Given the description of an element on the screen output the (x, y) to click on. 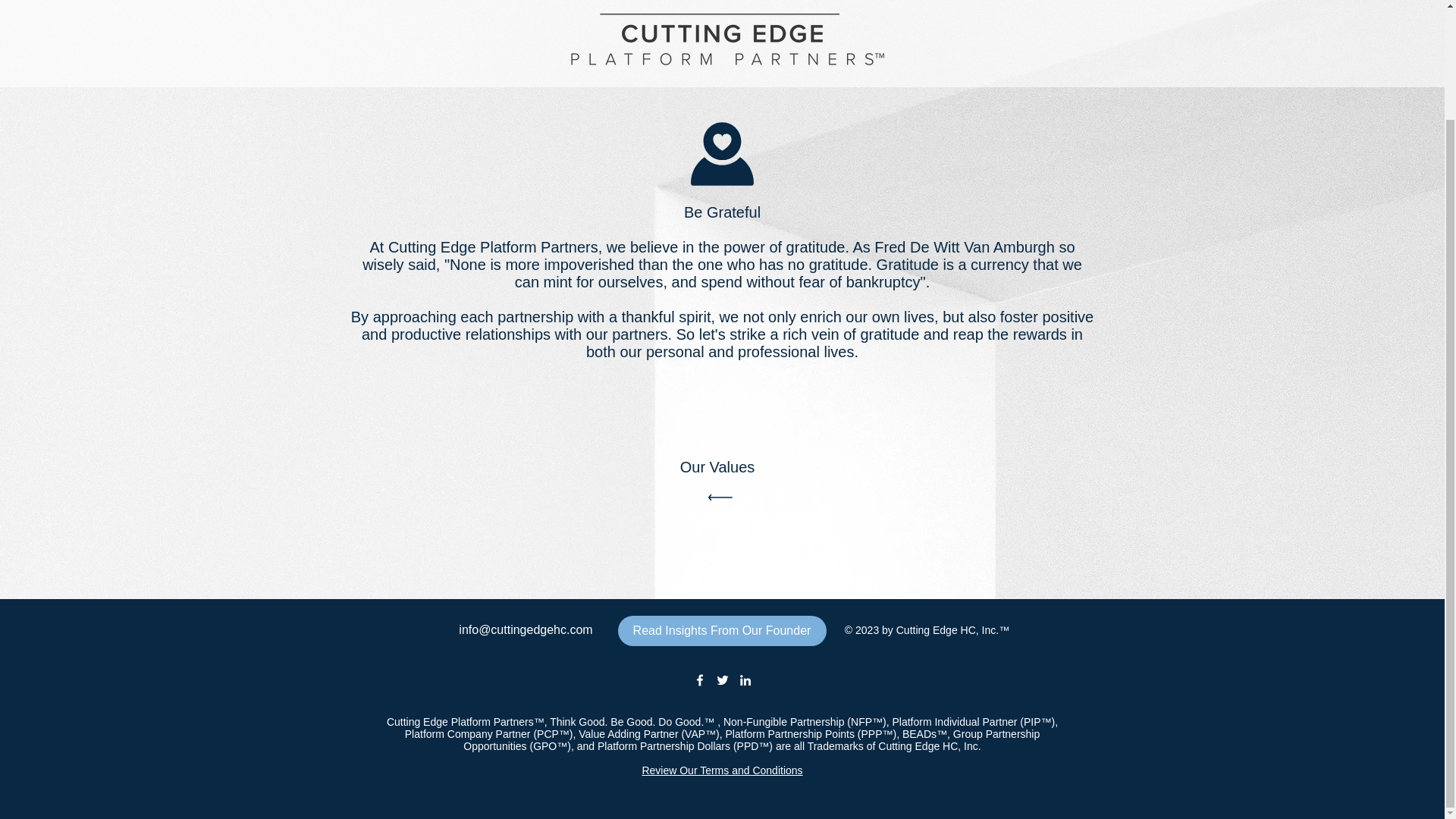
Our Values (722, 484)
Review Our Terms and Conditions (722, 770)
Read Insights From Our Founder (721, 630)
